Given the description of an element on the screen output the (x, y) to click on. 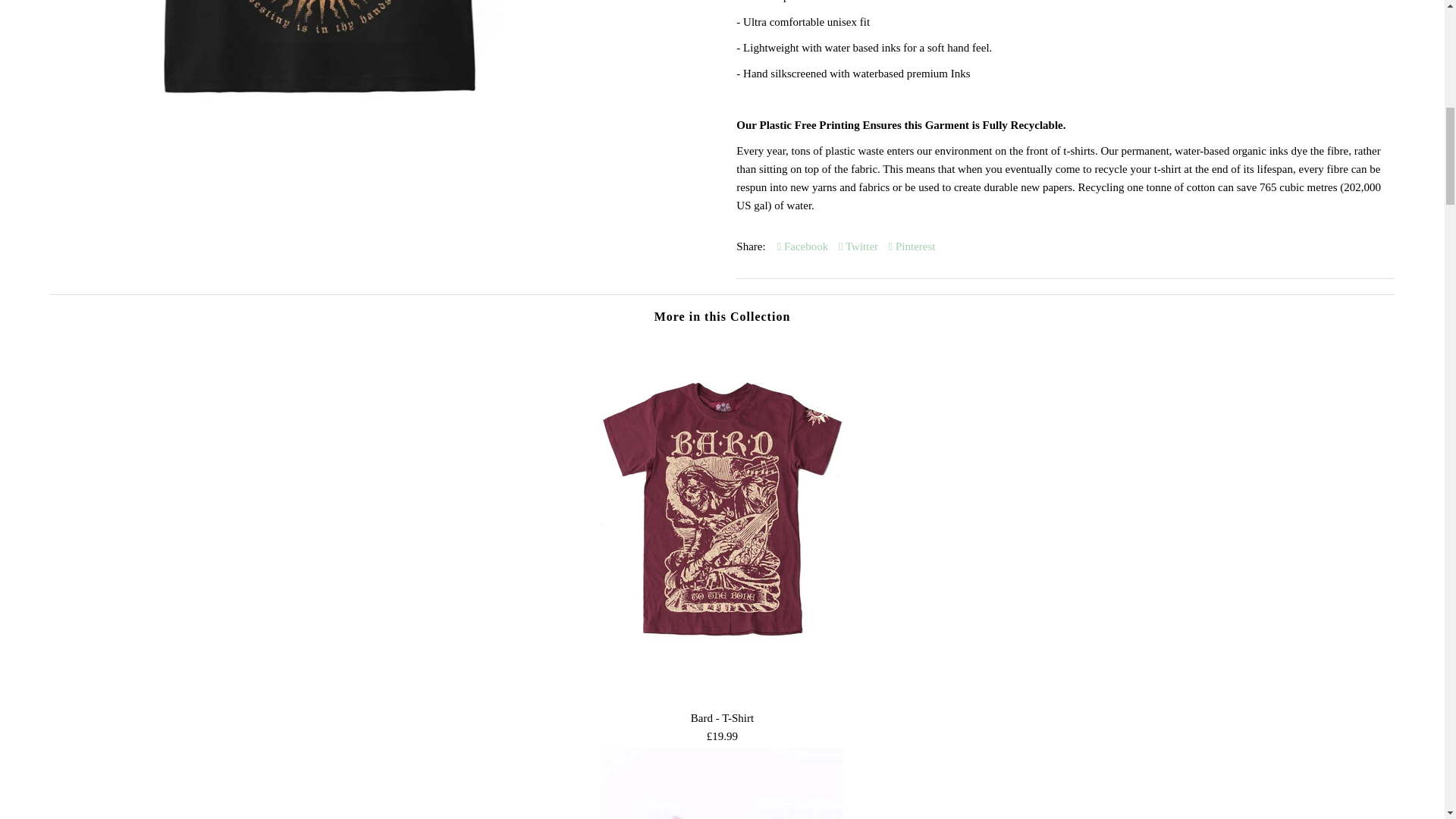
Share on Facebook (802, 246)
Share on Pinterest (912, 246)
Share on Twitter (857, 246)
Bard - T-Shirt (721, 691)
Destiny is in Thy Hands - T-Shirt (325, 104)
